Given the description of an element on the screen output the (x, y) to click on. 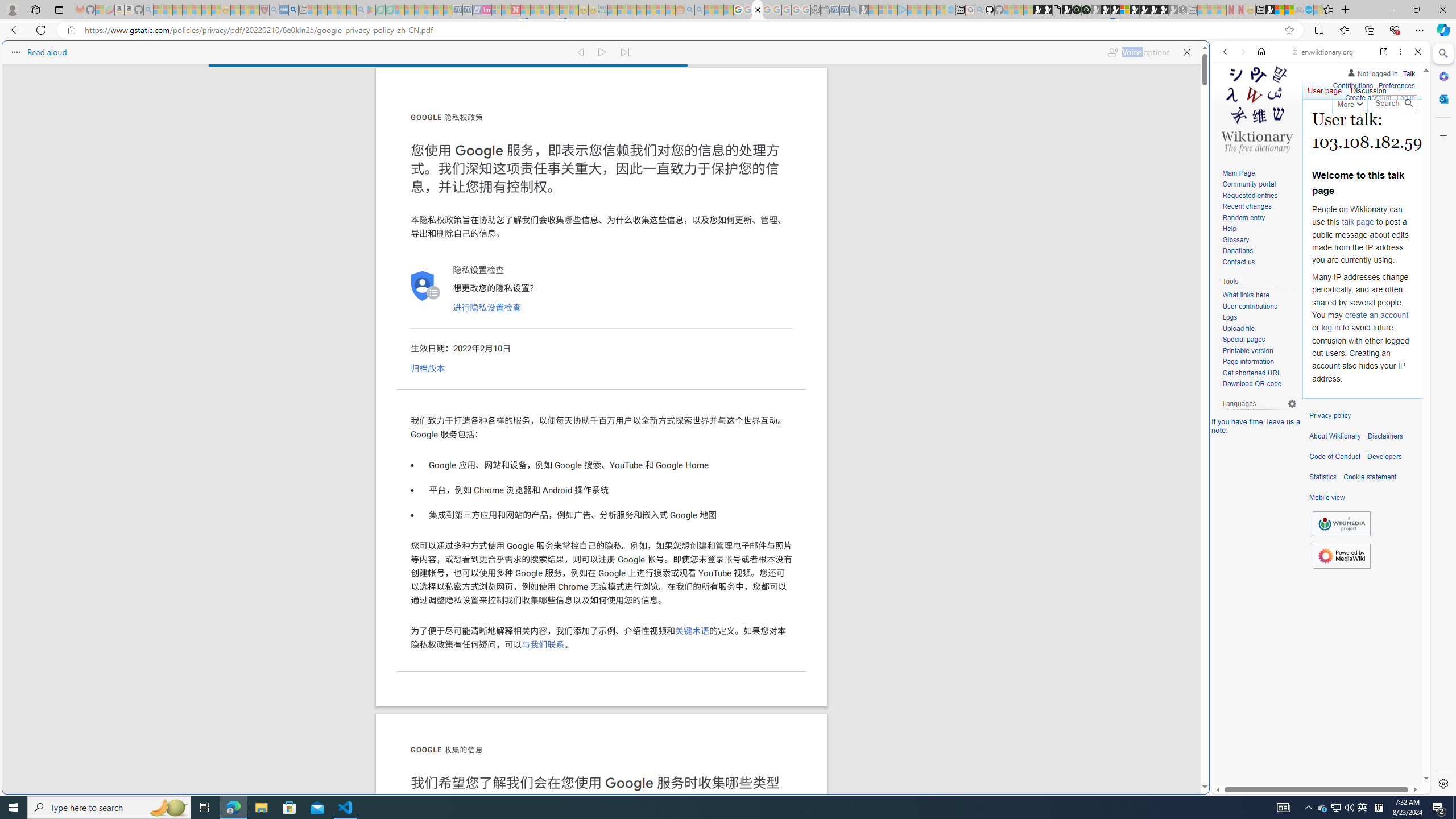
More (1349, 101)
Download QR code (1259, 383)
Log in (1405, 98)
Search Filter, WEB (1230, 129)
Search the web (1326, 78)
Code of Conduct (1334, 456)
Community portal (1248, 184)
This site scope (1259, 102)
